Given the description of an element on the screen output the (x, y) to click on. 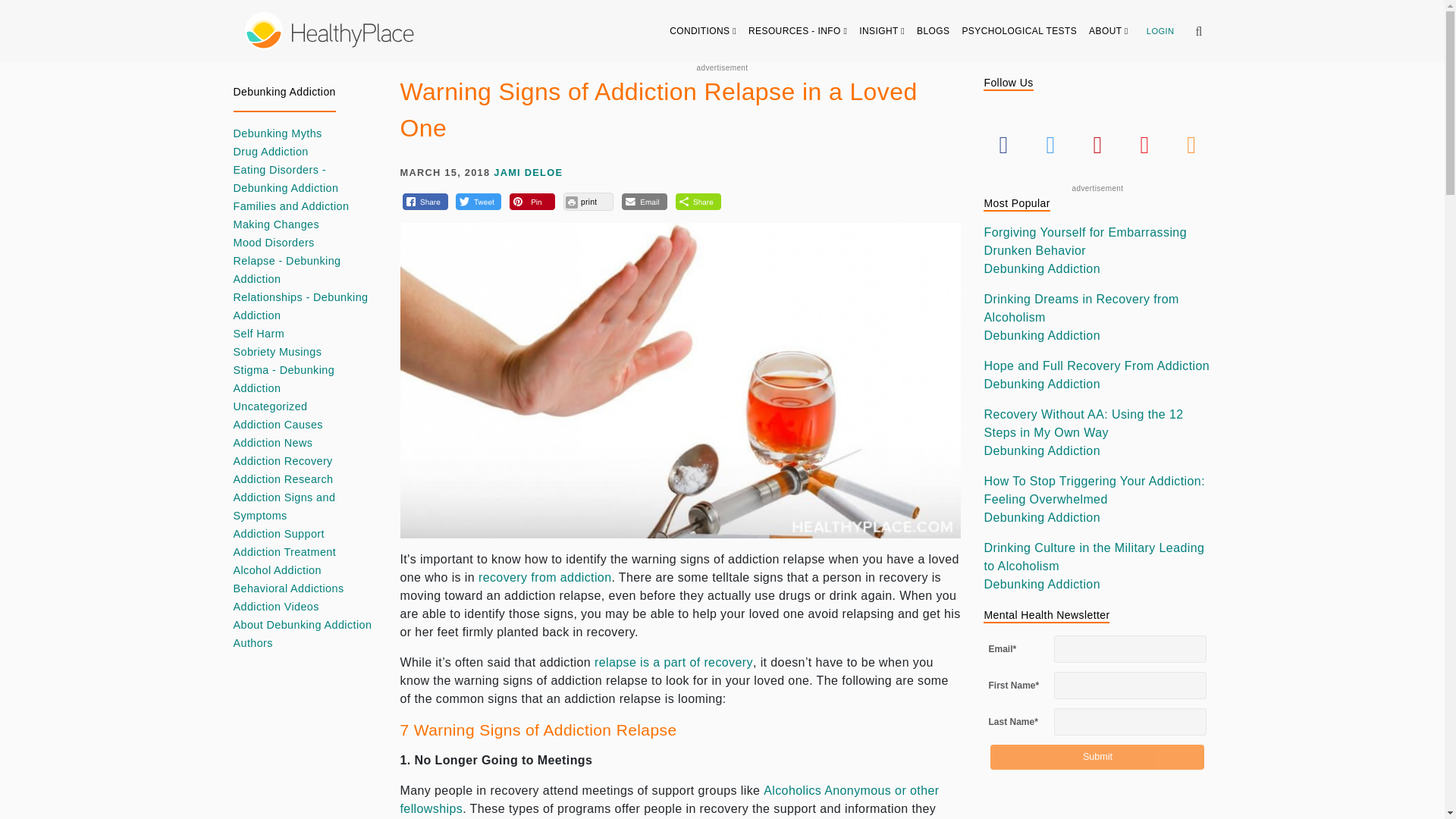
Submit (1097, 756)
CONDITIONS (702, 31)
INSIGHT (882, 31)
Start of a Drinking Relapse (673, 662)
RESOURCES - INFO (797, 31)
Support Groups for Alcoholism, Drug Abuse and Addiction (669, 798)
Drug Addiction Treatment and Drug Recovery (545, 576)
